Given the description of an element on the screen output the (x, y) to click on. 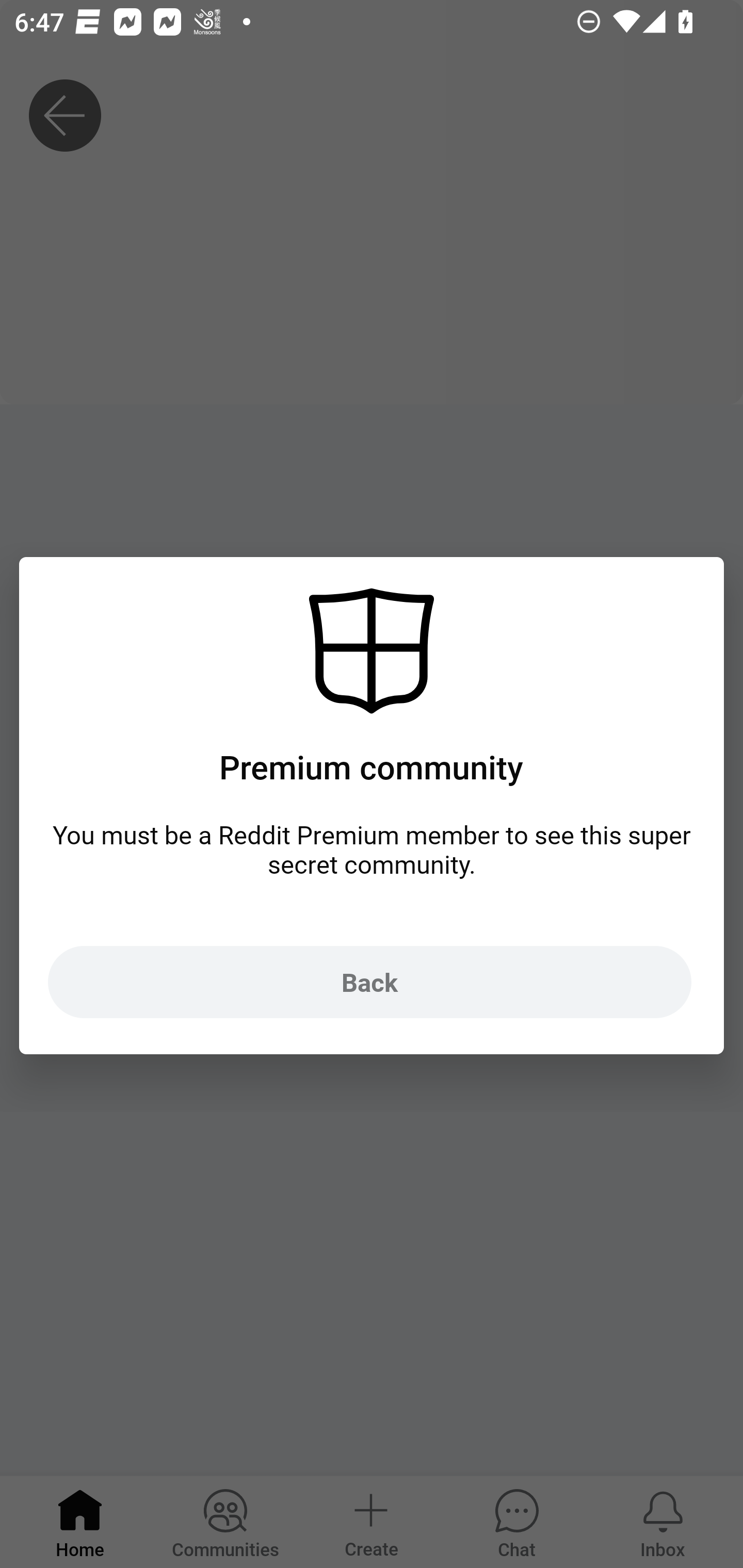
Back (369, 981)
